Given the description of an element on the screen output the (x, y) to click on. 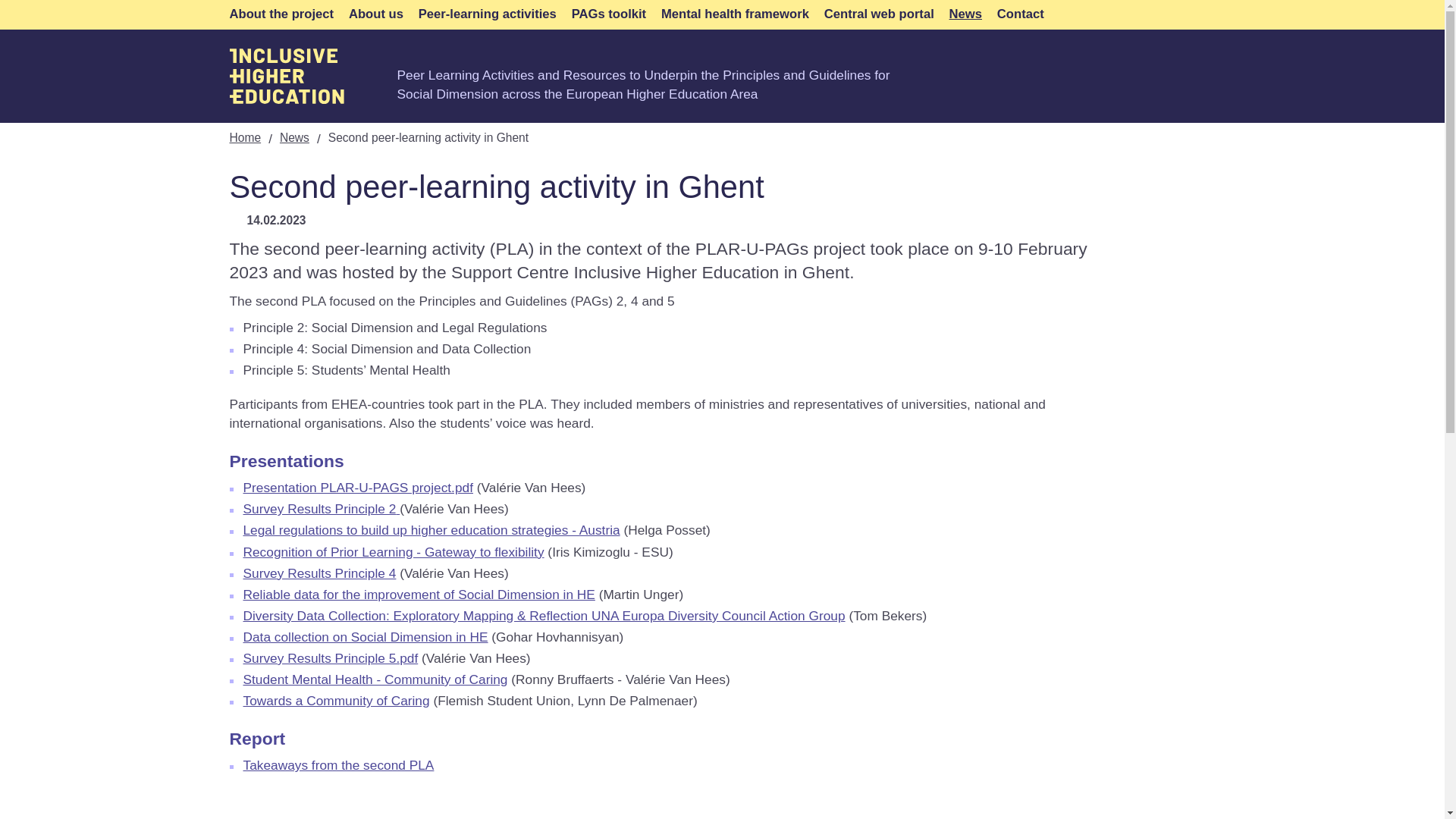
Home (244, 137)
News (965, 14)
Survey Results Principle 2 (319, 508)
News (293, 137)
About the project (280, 14)
Recognition of Prior Learning - Gateway to flexibility (393, 551)
Home (285, 76)
Data collection on Social Dimension in HE (365, 636)
